Given the description of an element on the screen output the (x, y) to click on. 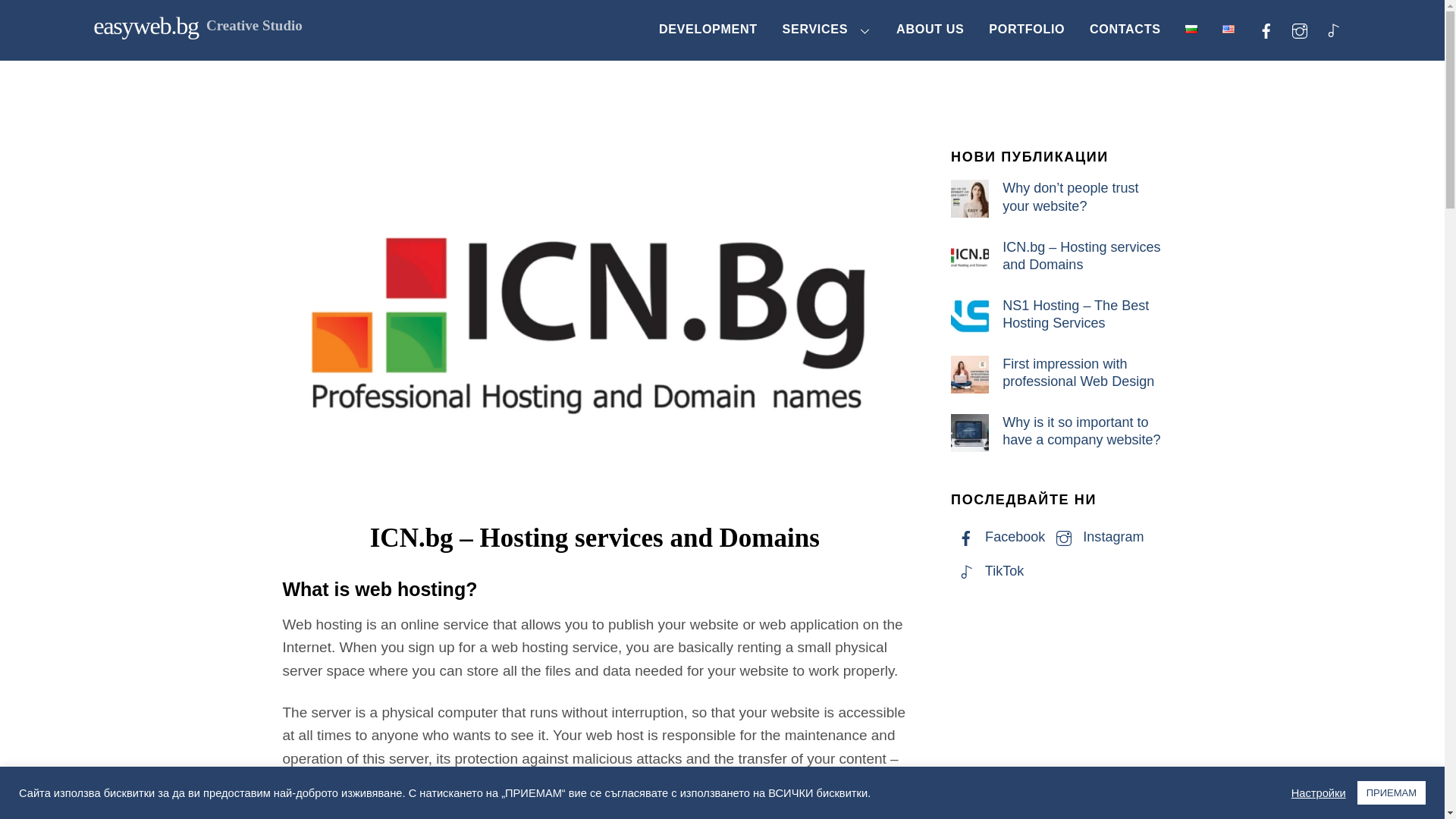
ABOUT US (929, 30)
CONTACTS (722, 30)
easyweb.bg (1124, 30)
easyweb.bg (145, 25)
Super Hosting (145, 25)
SERVICES (594, 817)
PORTFOLIO (826, 30)
DEVELOPMENT (1026, 30)
